Given the description of an element on the screen output the (x, y) to click on. 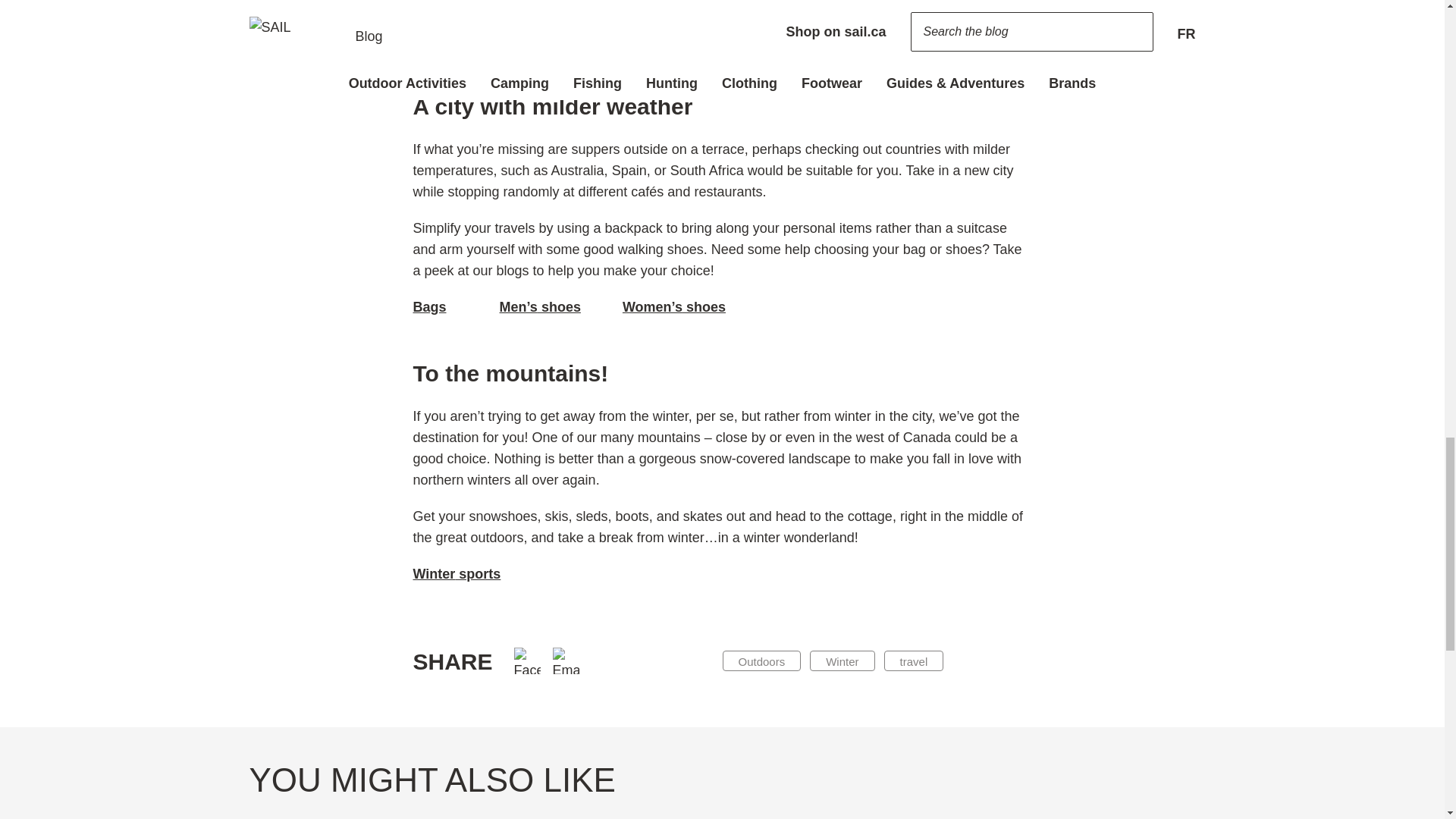
Email (566, 660)
Facebook (526, 660)
